Given the description of an element on the screen output the (x, y) to click on. 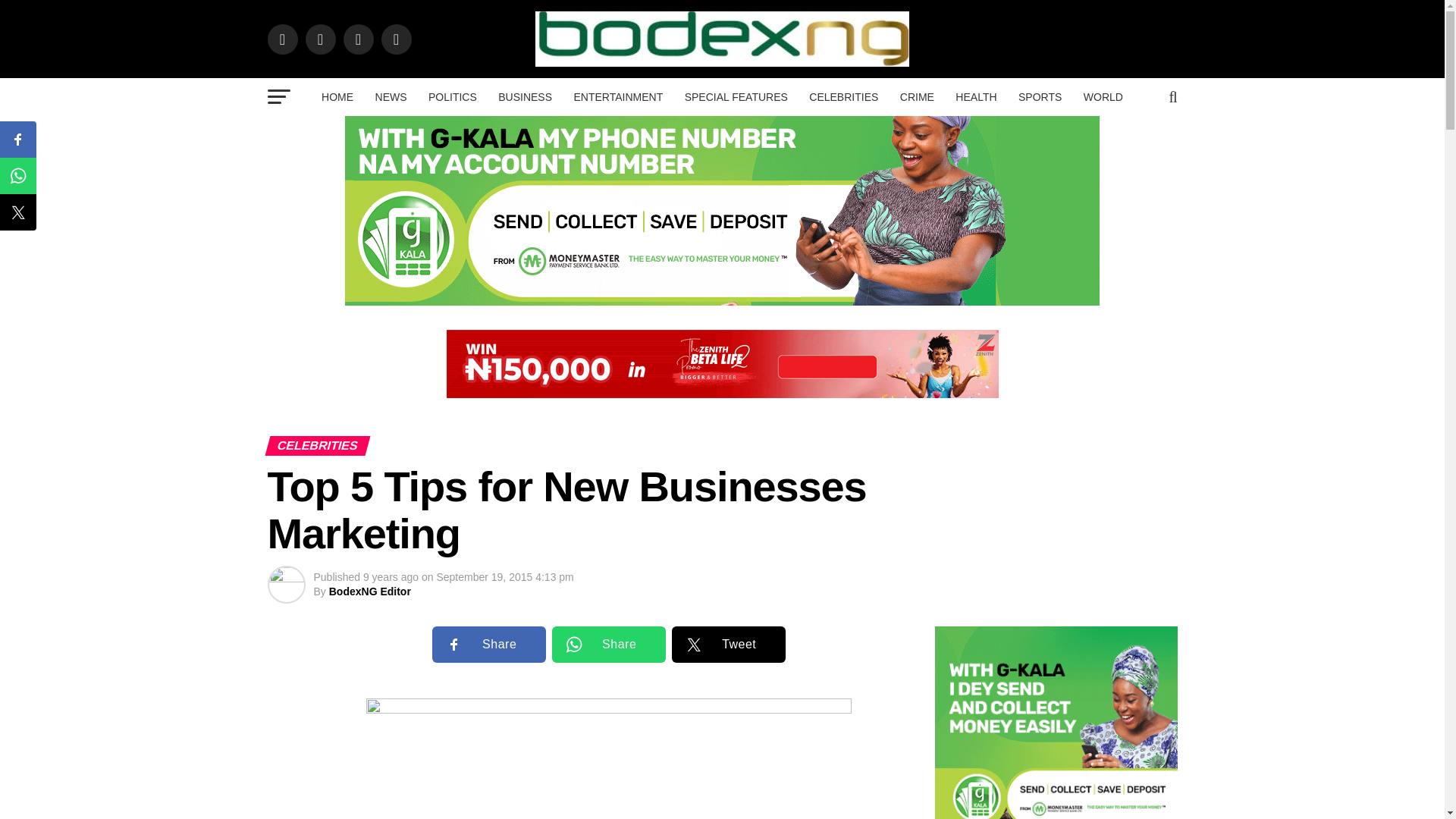
HOME (337, 96)
NEWS (391, 96)
Posts by BodexNG Editor (369, 591)
BUSINESS (524, 96)
POLITICS (452, 96)
